Given the description of an element on the screen output the (x, y) to click on. 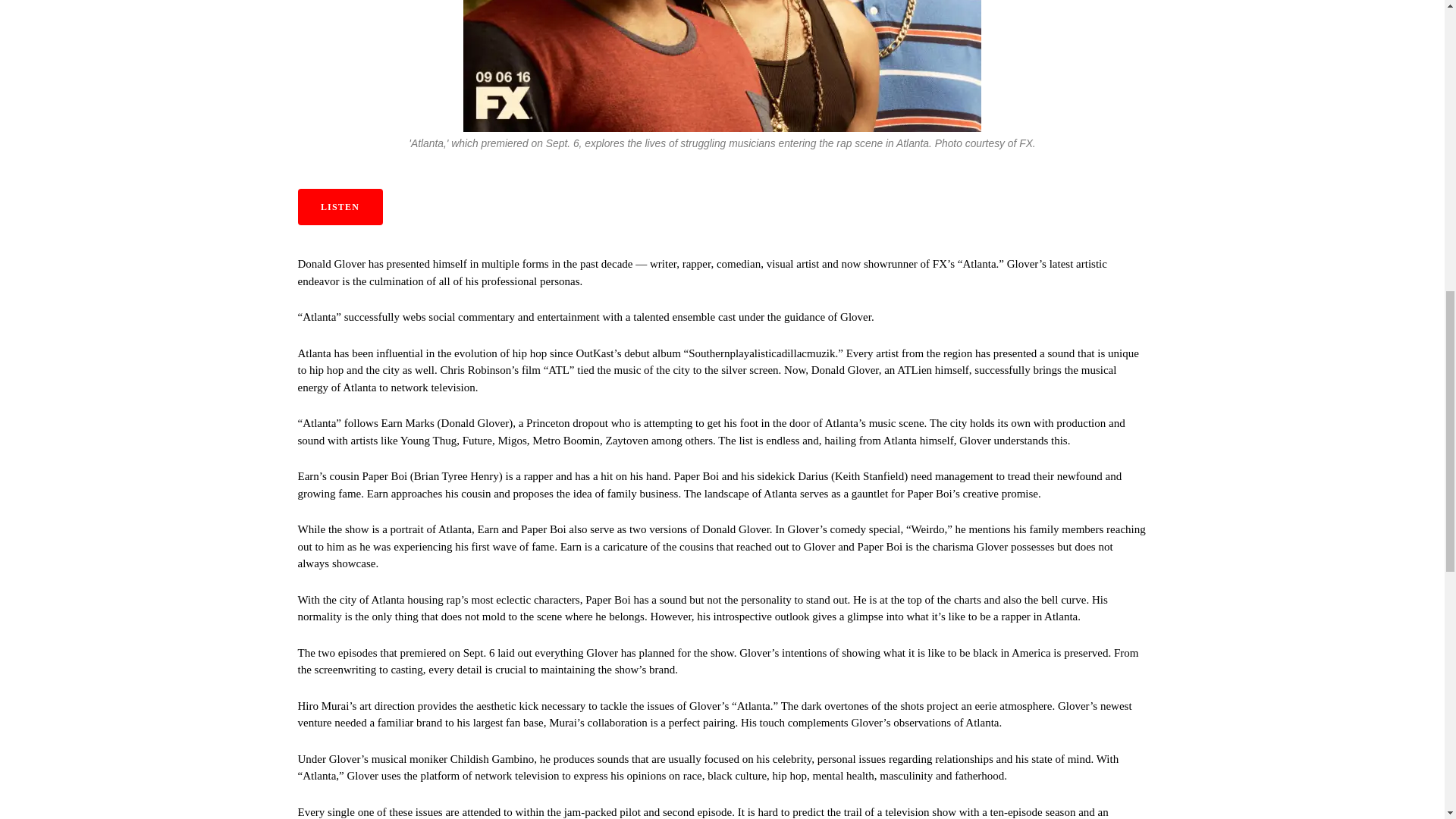
Text To Audio:  Tap to listen post. (339, 207)
